Given the description of an element on the screen output the (x, y) to click on. 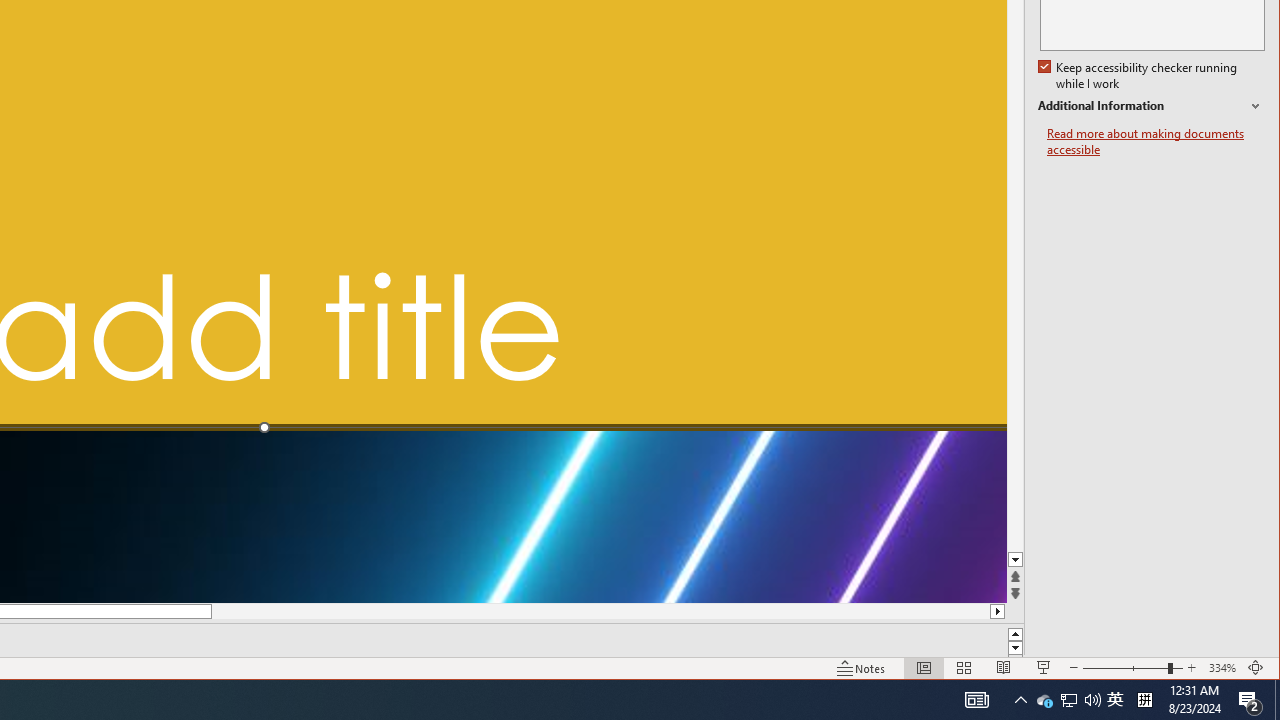
Zoom 334% (1222, 668)
User Promoted Notification Area (1068, 699)
Q2790: 100% (1092, 699)
Page down (1015, 342)
Tray Input Indicator - Chinese (Simplified, China) (1144, 699)
Line down (1015, 560)
Show desktop (1069, 699)
Action Center, 2 new notifications (1277, 699)
